Given the description of an element on the screen output the (x, y) to click on. 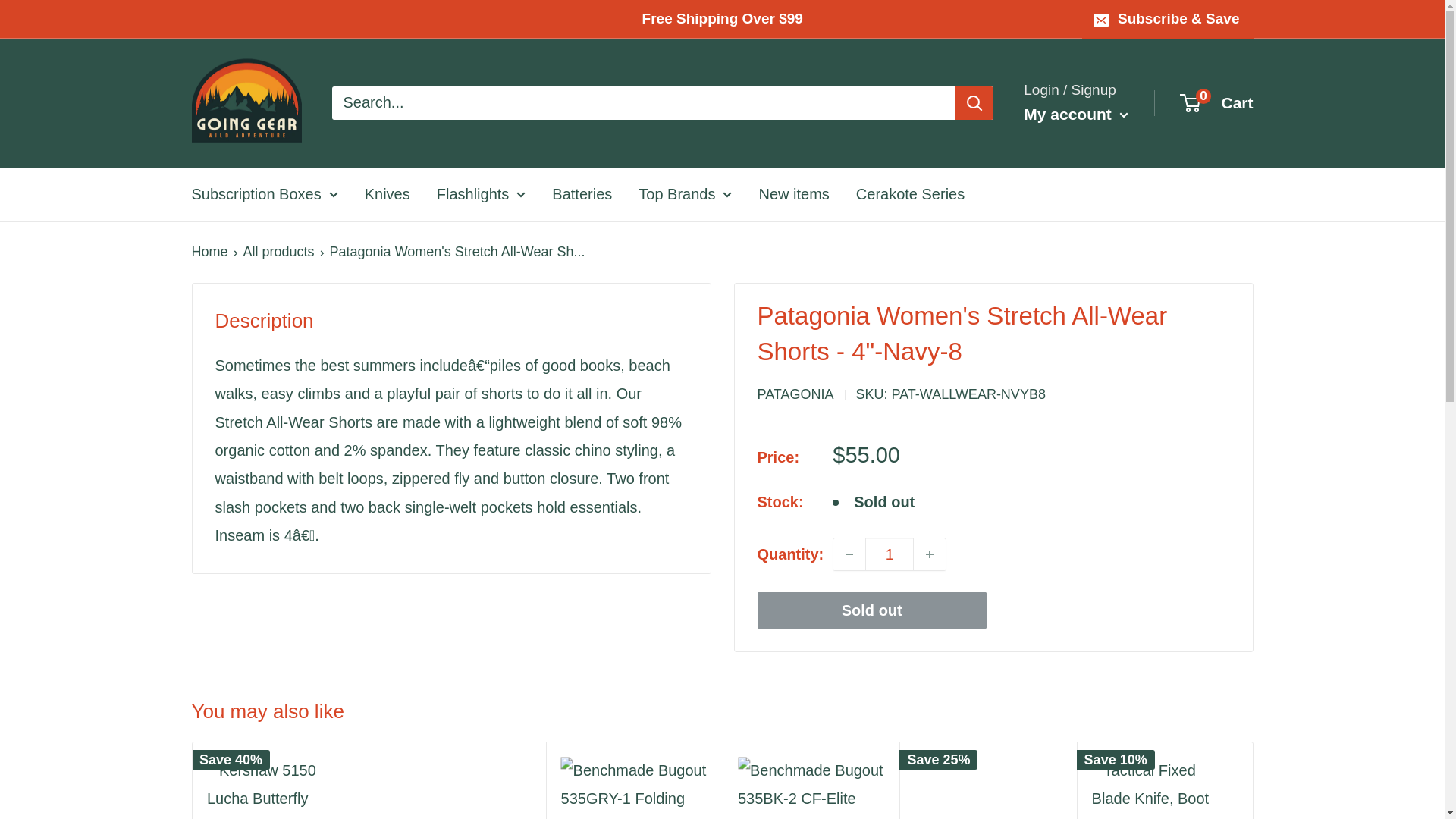
Increase quantity by 1 (929, 554)
Decrease quantity by 1 (848, 554)
1 (889, 554)
